Given the description of an element on the screen output the (x, y) to click on. 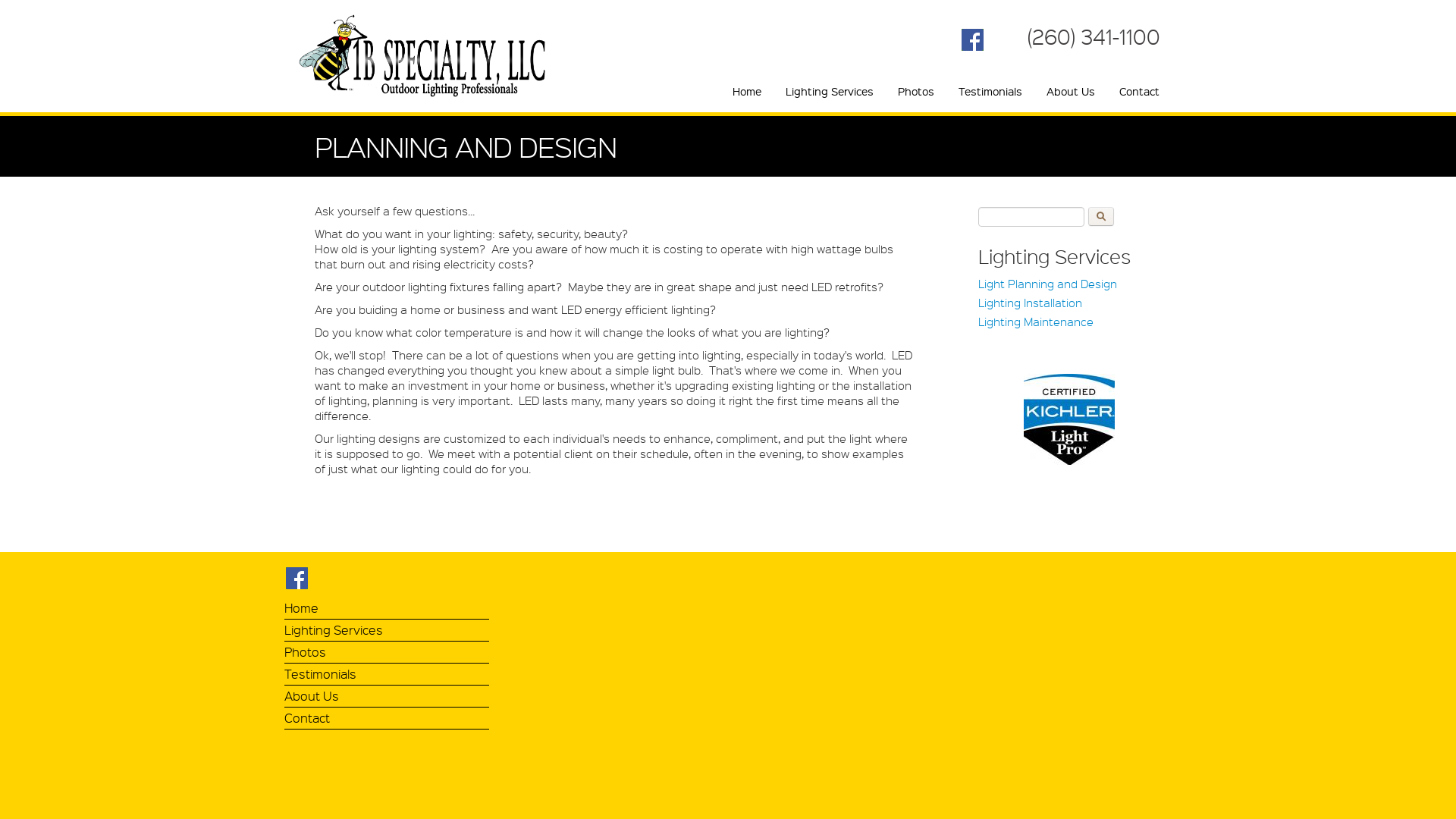
Home Element type: text (386, 609)
Testimonials Element type: text (990, 90)
Lighting Services Element type: text (386, 631)
Home Element type: text (746, 90)
Photos Element type: text (386, 653)
Lighting Services Element type: text (829, 90)
Lighting Maintenance Element type: text (1069, 325)
Enter the terms you wish to search for. Element type: hover (1031, 216)
Contact Element type: text (386, 719)
About Us Element type: text (1070, 90)
About Us Element type: text (386, 697)
Lighting Installation Element type: text (1069, 307)
Photos Element type: text (915, 90)
Contact Element type: text (1139, 90)
Light Planning and Design Element type: text (1069, 288)
Testimonials Element type: text (386, 675)
Home Element type: hover (429, 54)
Search Element type: text (1100, 216)
